Given the description of an element on the screen output the (x, y) to click on. 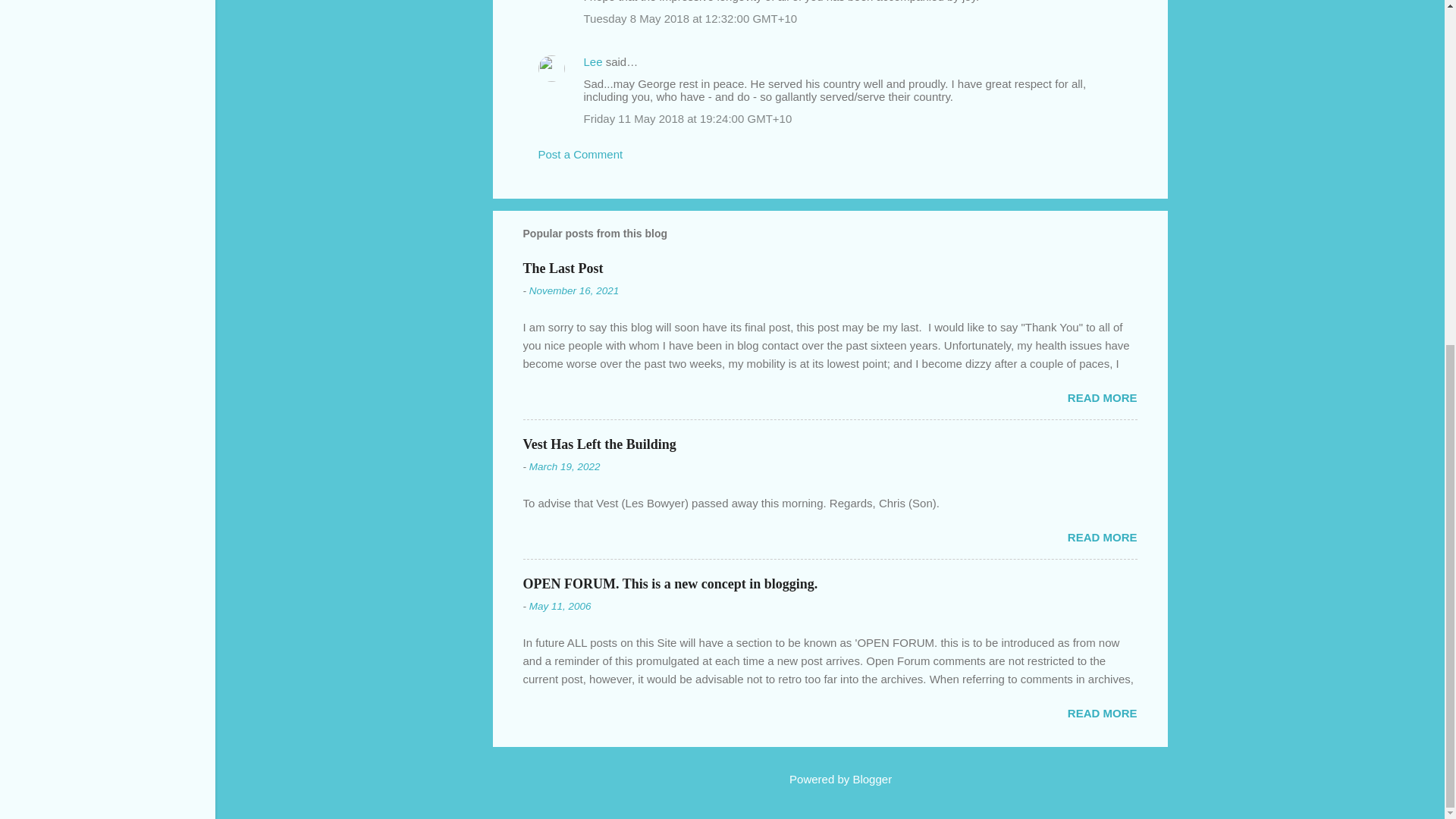
READ MORE (1102, 397)
Powered by Blogger (829, 779)
March 19, 2022 (564, 466)
Lee (592, 61)
Post a Comment (580, 154)
READ MORE (1102, 536)
May 11, 2006 (560, 605)
READ MORE (1102, 712)
OPEN FORUM. This is a new concept in blogging. (670, 583)
The Last Post (563, 268)
Vest Has Left the Building (599, 444)
November 16, 2021 (574, 290)
comment permalink (690, 18)
